Given the description of an element on the screen output the (x, y) to click on. 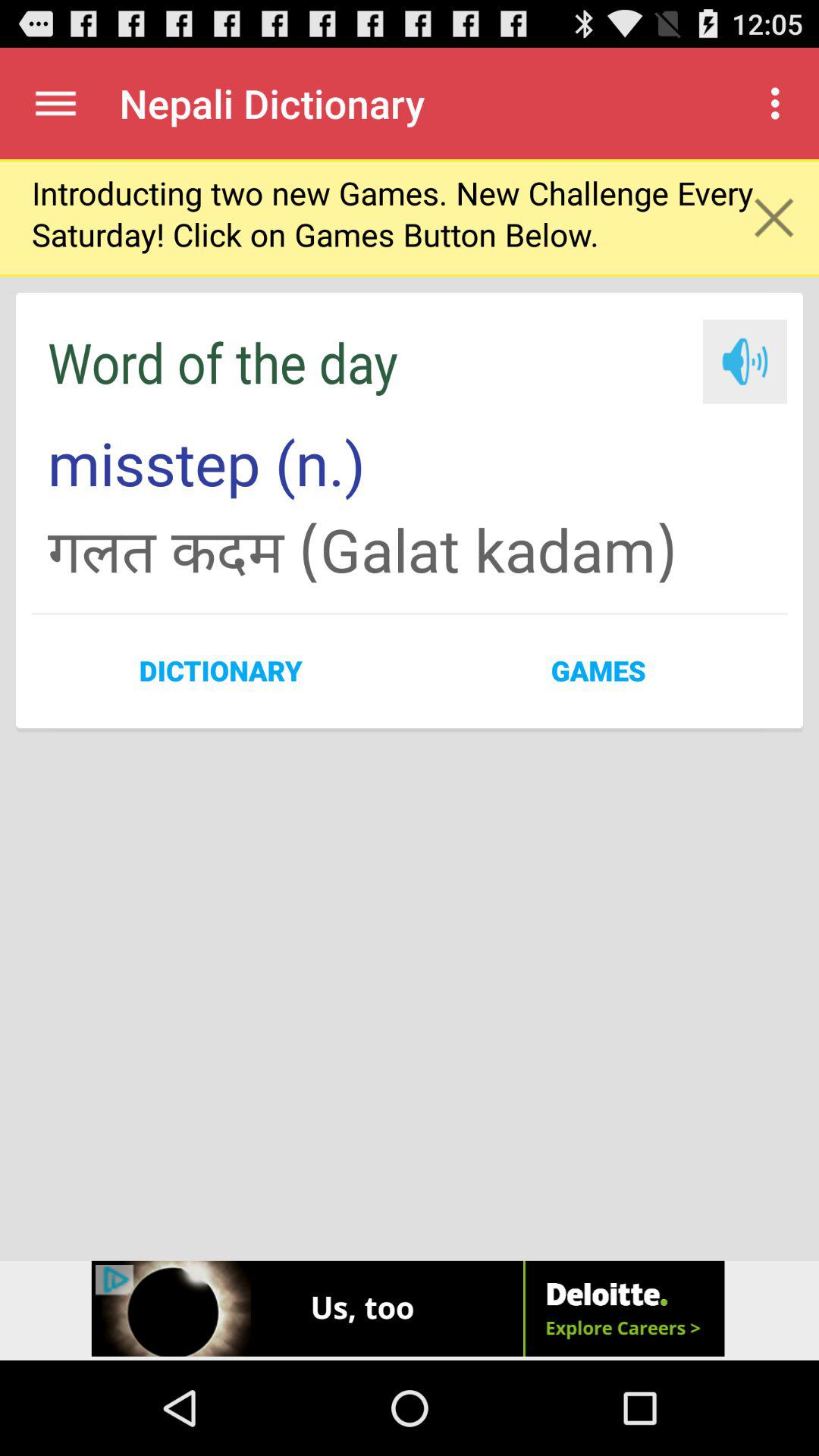
press icon at the bottom (409, 1310)
